Given the description of an element on the screen output the (x, y) to click on. 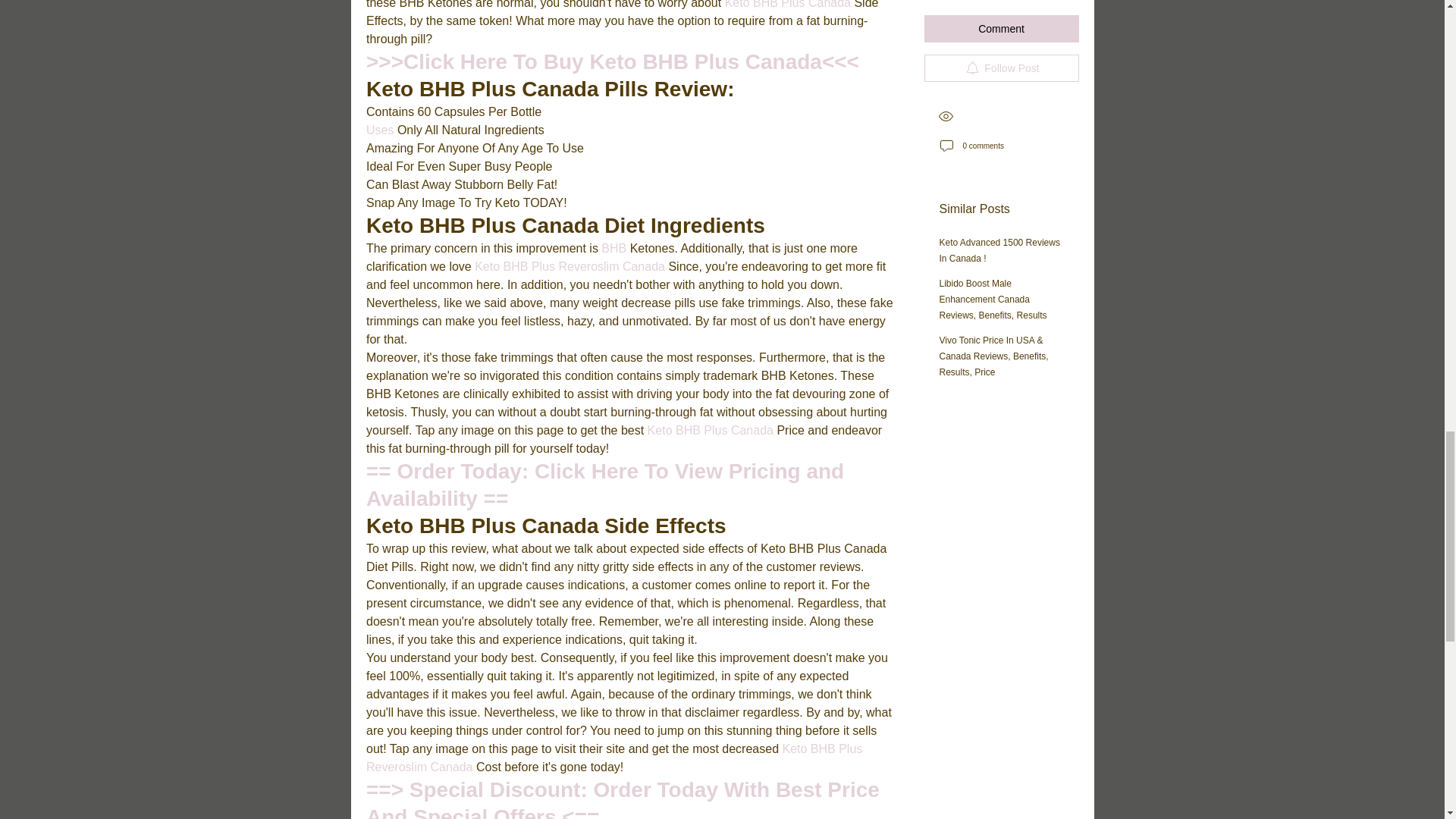
Keto BHB Plus Canada (786, 4)
BHB  (614, 247)
Keto BHB Plus Canada (709, 430)
 Keto BHB Plus Reveroslim Canada (566, 266)
 Keto BHB Plus Reveroslim Canada (614, 757)
Uses  (380, 129)
